Given the description of an element on the screen output the (x, y) to click on. 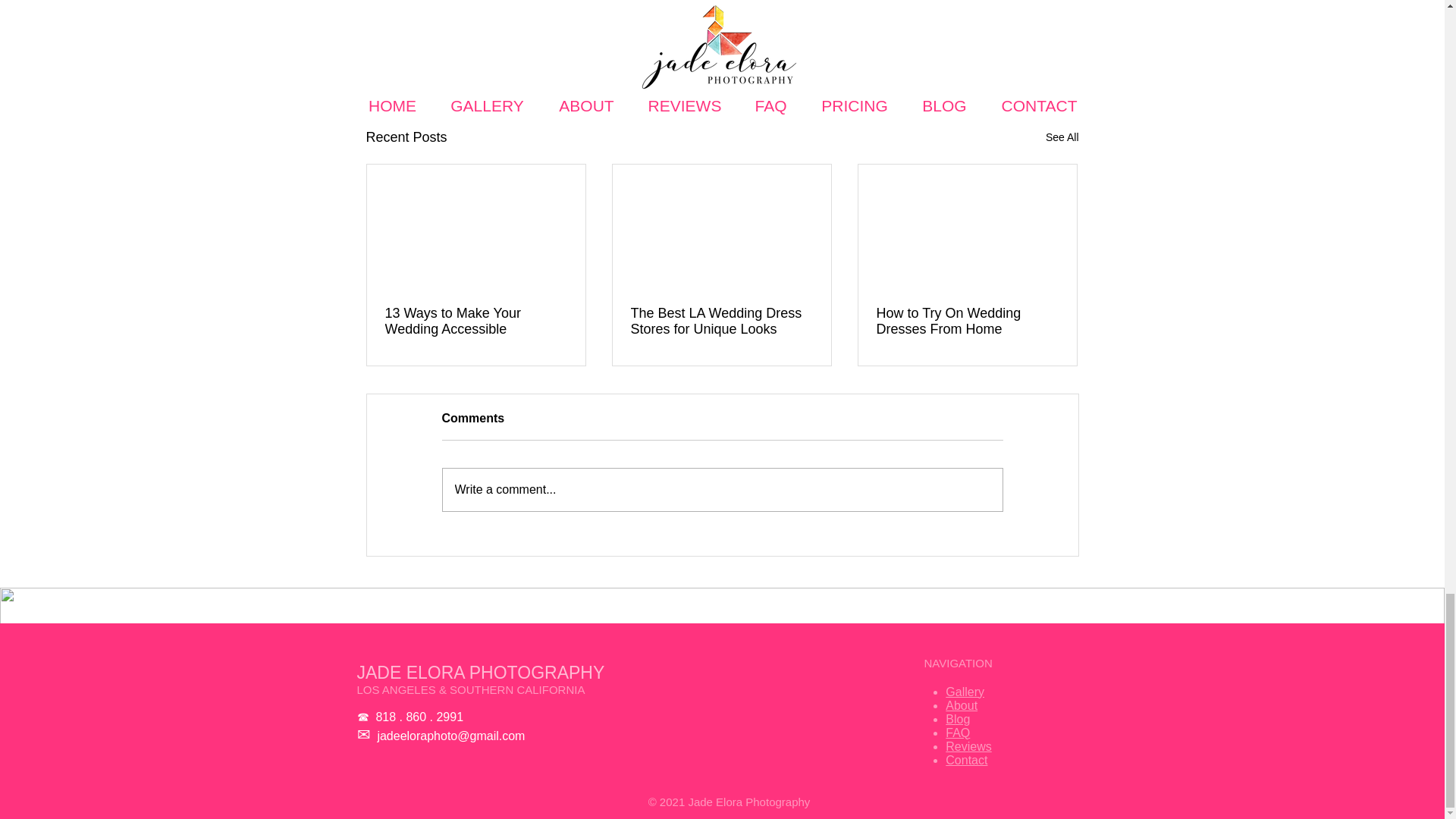
13 Ways to Make Your Wedding Accessible (476, 321)
Wedding Planning Advice (942, 39)
See All (1061, 137)
The Best LA Wedding Dress Stores for Unique Looks (721, 321)
